Given the description of an element on the screen output the (x, y) to click on. 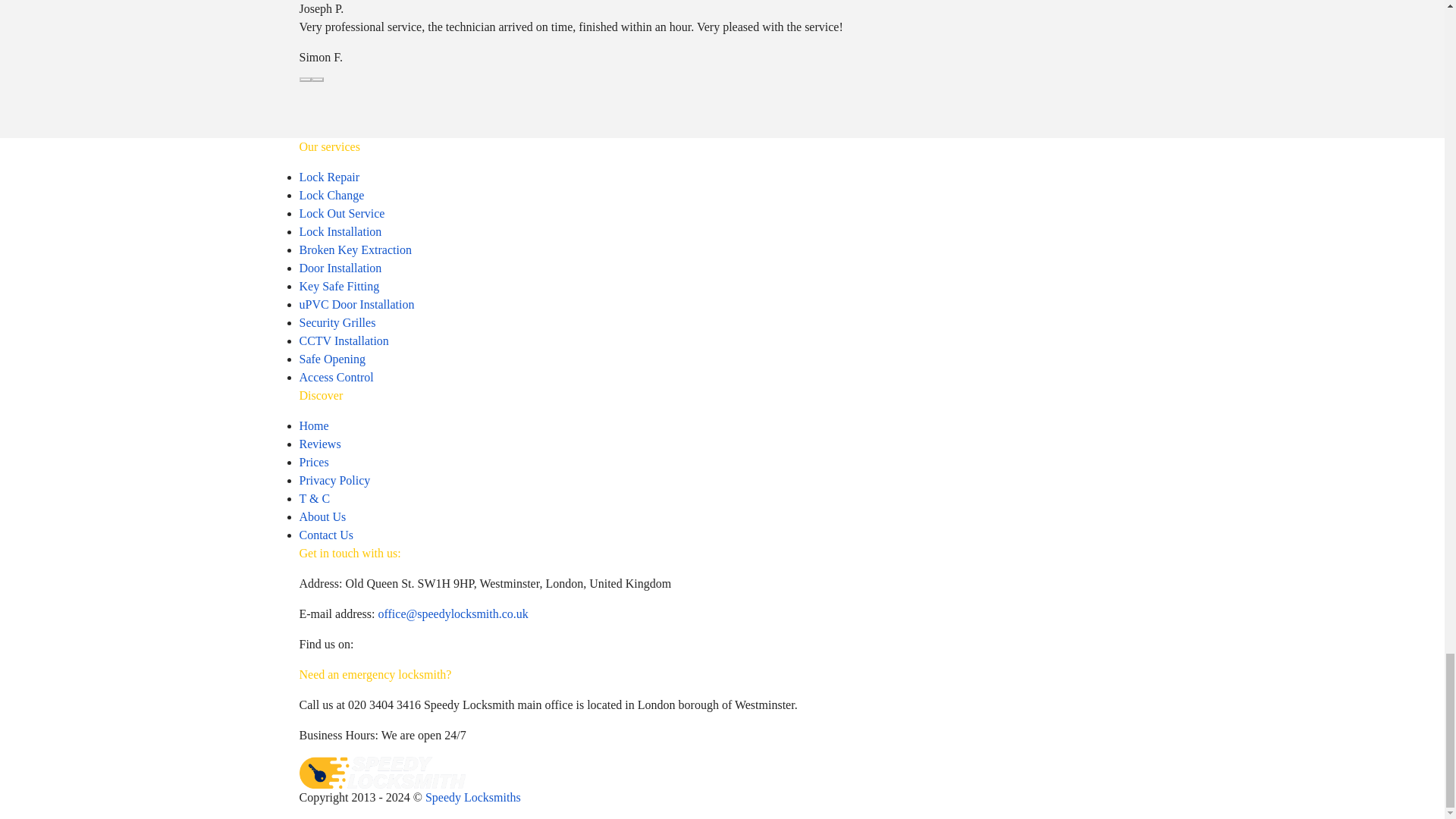
Speedy Locksmiths (473, 797)
Lock Repair (328, 176)
Speedy Locksmith London (381, 772)
